Given the description of an element on the screen output the (x, y) to click on. 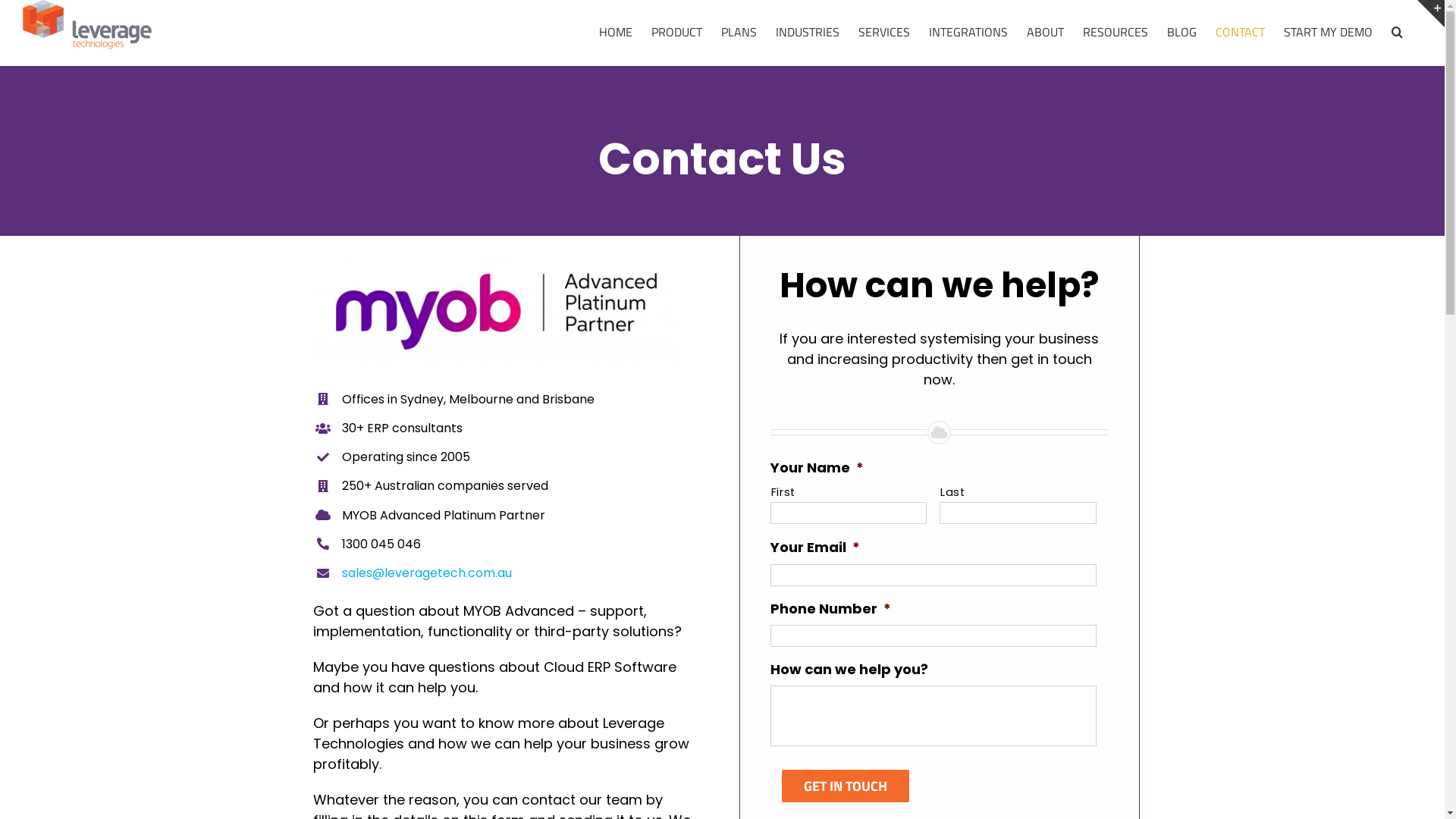
INTEGRATIONS Element type: text (967, 31)
PRODUCT Element type: text (676, 31)
GET IN TOUCH Element type: text (844, 785)
PLANS Element type: text (738, 31)
Toggle Sliding Bar Area Element type: text (1430, 13)
HOME Element type: text (615, 31)
RESOURCES Element type: text (1115, 31)
Search Element type: hover (1396, 31)
START MY DEMO Element type: text (1327, 31)
SERVICES Element type: text (884, 31)
ABOUT Element type: text (1044, 31)
CONTACT Element type: text (1239, 31)
BLOG Element type: text (1181, 31)
INDUSTRIES Element type: text (807, 31)
